Given the description of an element on the screen output the (x, y) to click on. 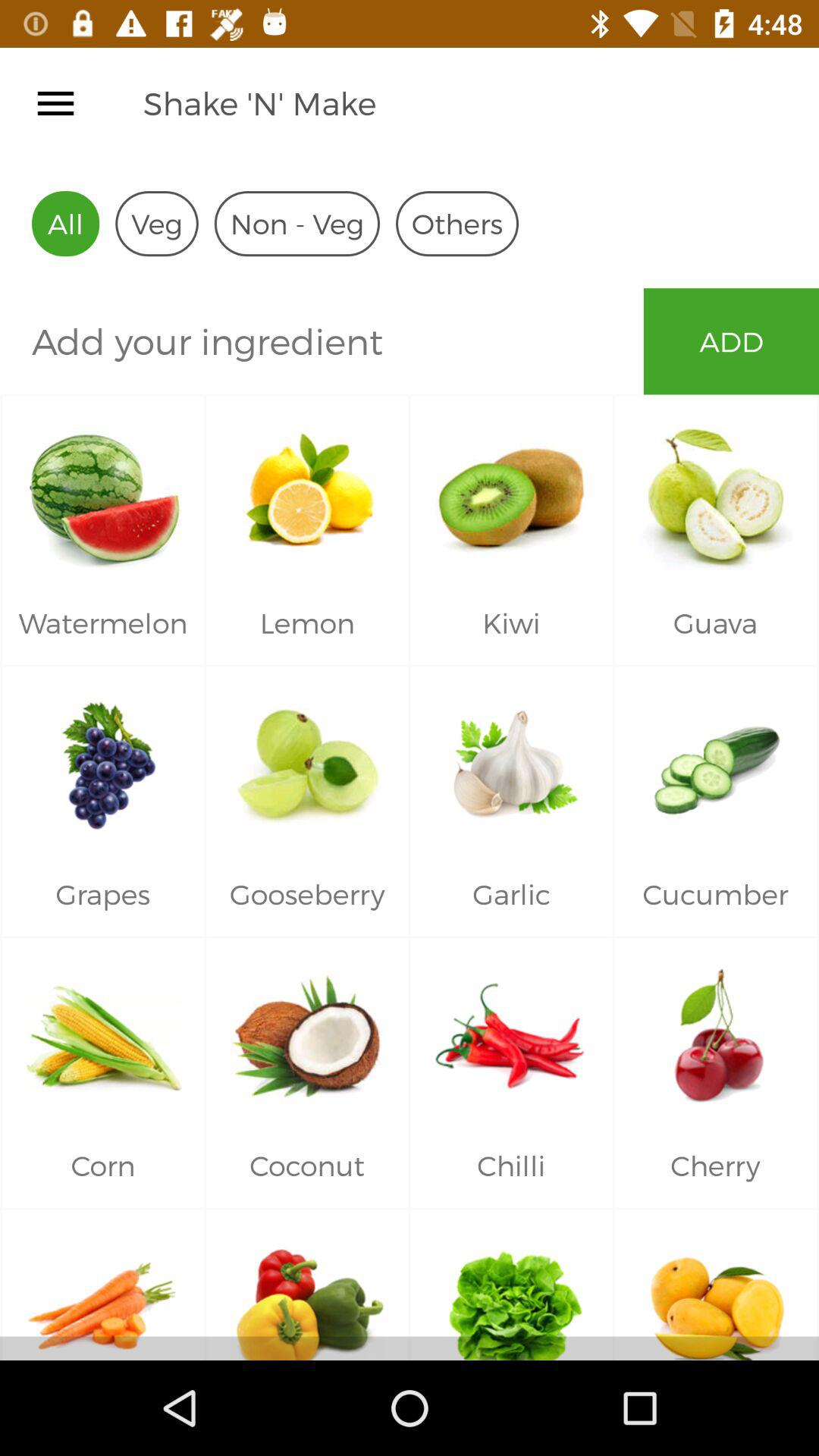
choose the item next to the non - veg icon (456, 223)
